Given the description of an element on the screen output the (x, y) to click on. 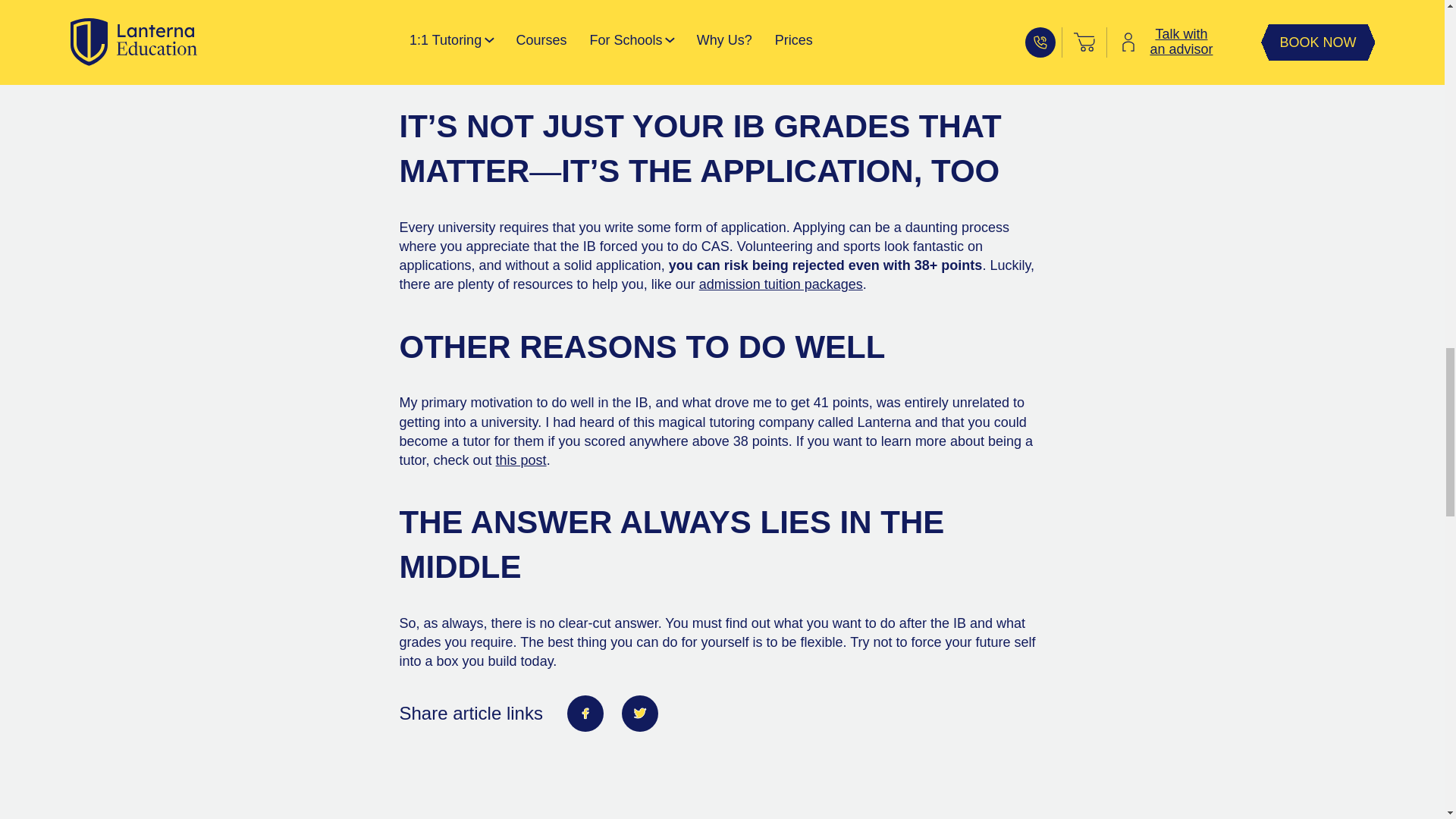
this post (521, 459)
admission tuition packages (780, 283)
